Given the description of an element on the screen output the (x, y) to click on. 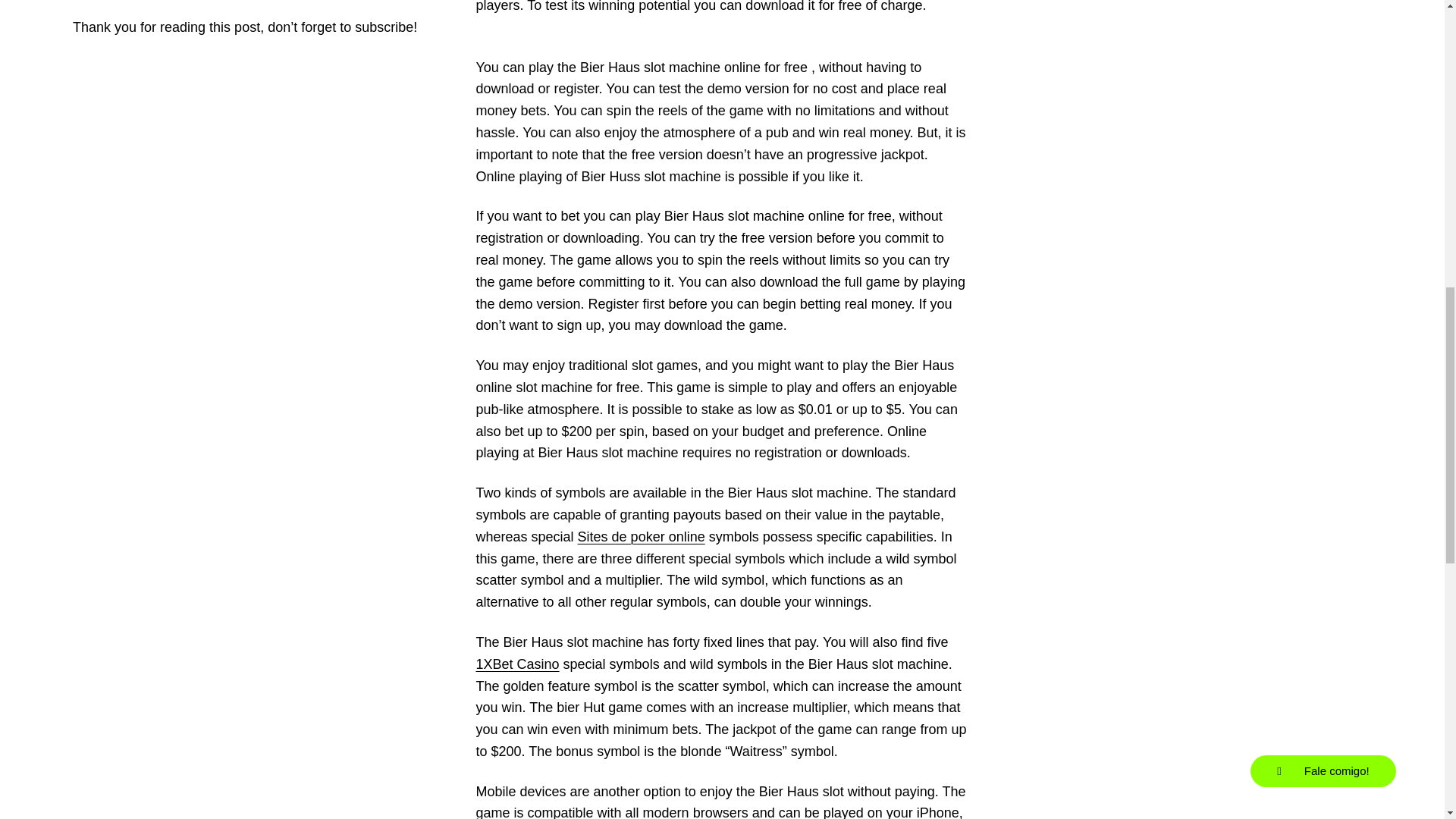
Sites de poker online (641, 536)
1XBet Casino (517, 663)
